Given the description of an element on the screen output the (x, y) to click on. 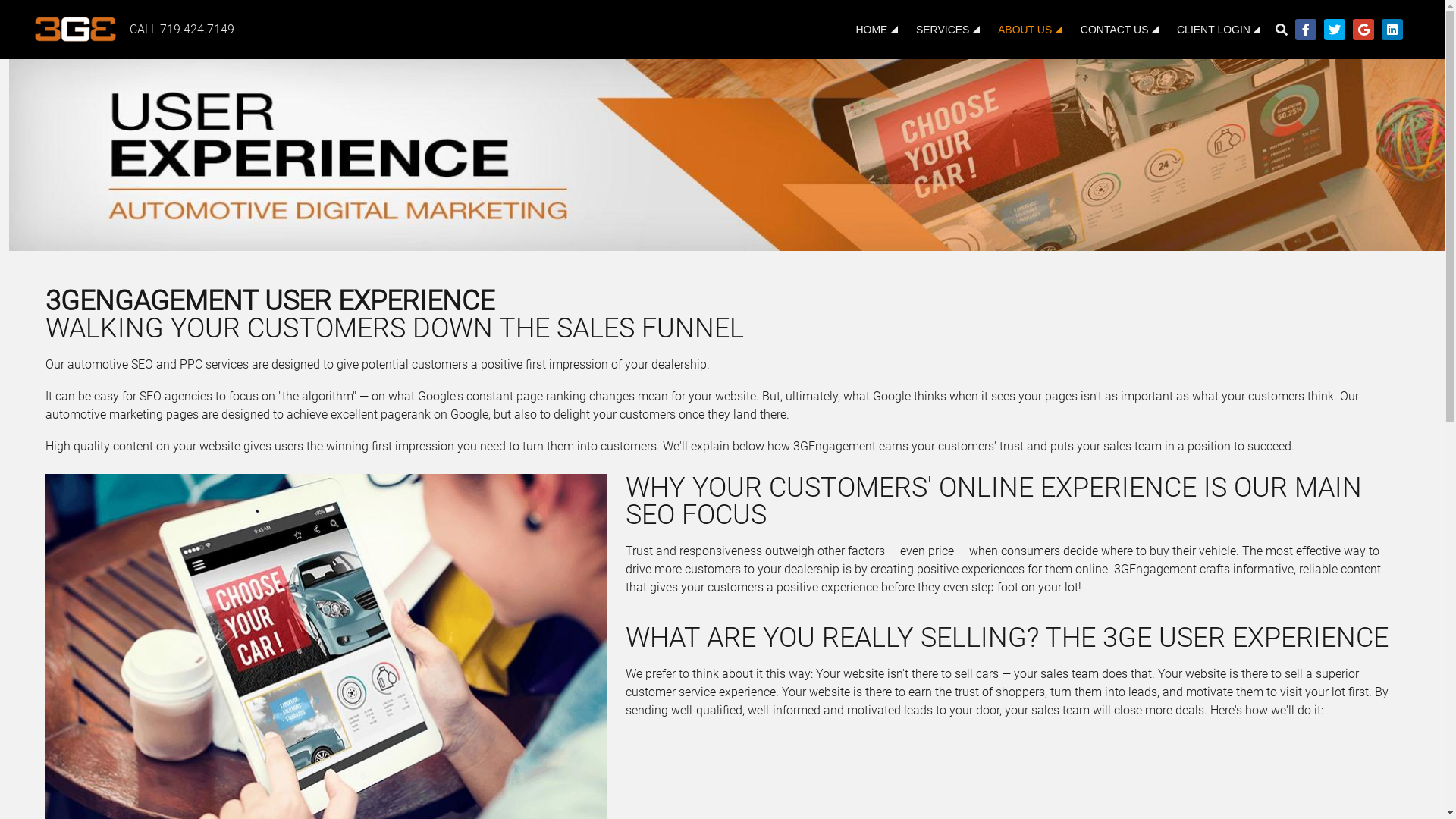
SERVICES Element type: text (947, 29)
Google Element type: text (1363, 29)
719.424.7149 Element type: text (196, 28)
CONTACT US Element type: text (1119, 29)
Linkedin Element type: text (1392, 29)
CLIENT LOGIN Element type: text (1218, 29)
Twitter Element type: text (1334, 29)
Facebook Element type: text (1305, 29)
HOME Element type: text (876, 29)
ABOUT US Element type: text (1029, 29)
